Given the description of an element on the screen output the (x, y) to click on. 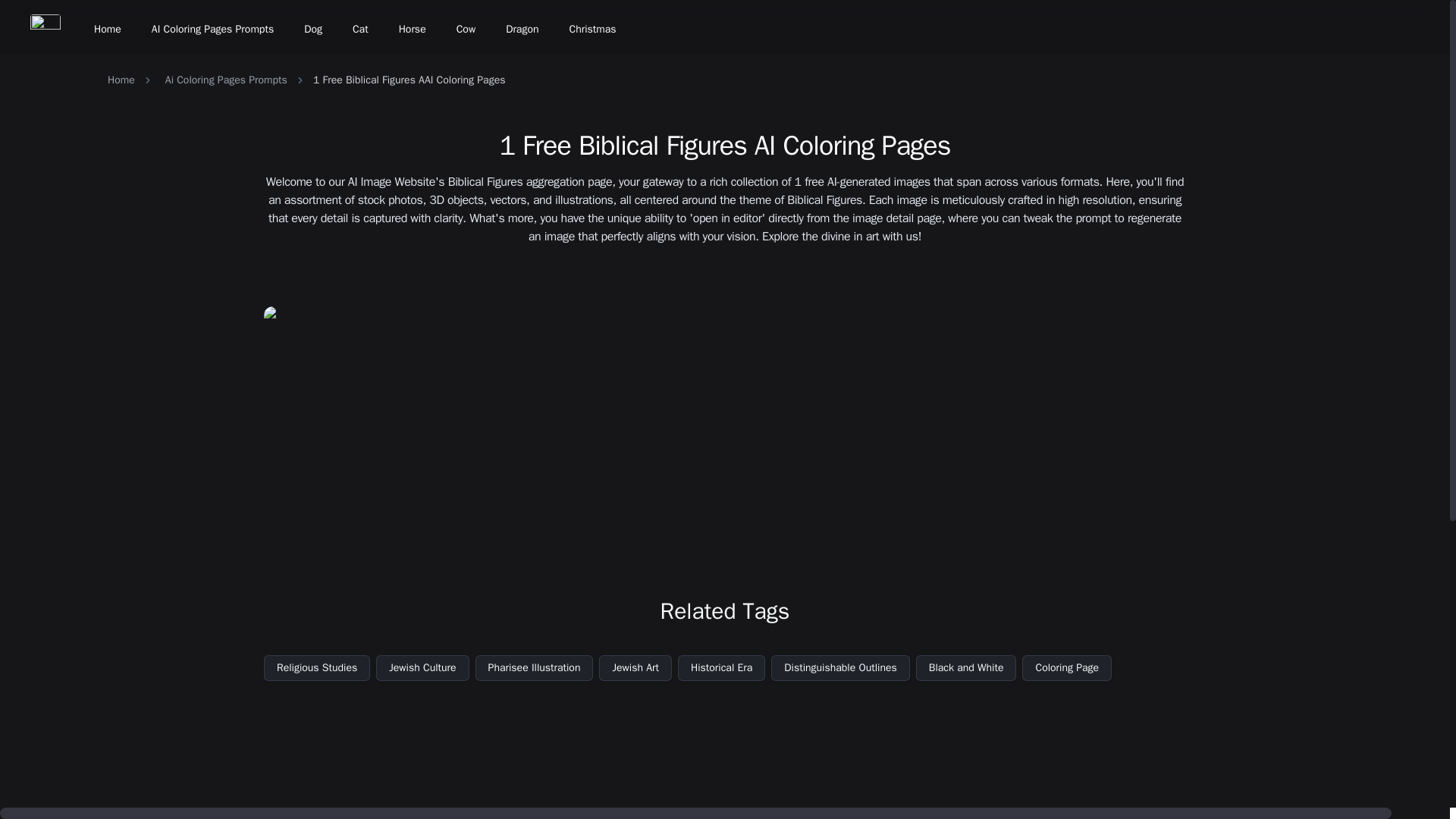
Ai Coloring Pages Prompts (225, 79)
Black and White (965, 667)
Dog (313, 29)
Cat (360, 29)
Pharisee Illustration (535, 667)
Christmas (591, 29)
Horse (412, 29)
AI Coloring Pages Prompts (212, 29)
Distinguishable Outlines (839, 667)
Dragon (521, 29)
Historical Era (721, 667)
Jewish Art (634, 667)
Coloring Page (1067, 667)
Home (121, 79)
Jewish Culture (421, 667)
